Given the description of an element on the screen output the (x, y) to click on. 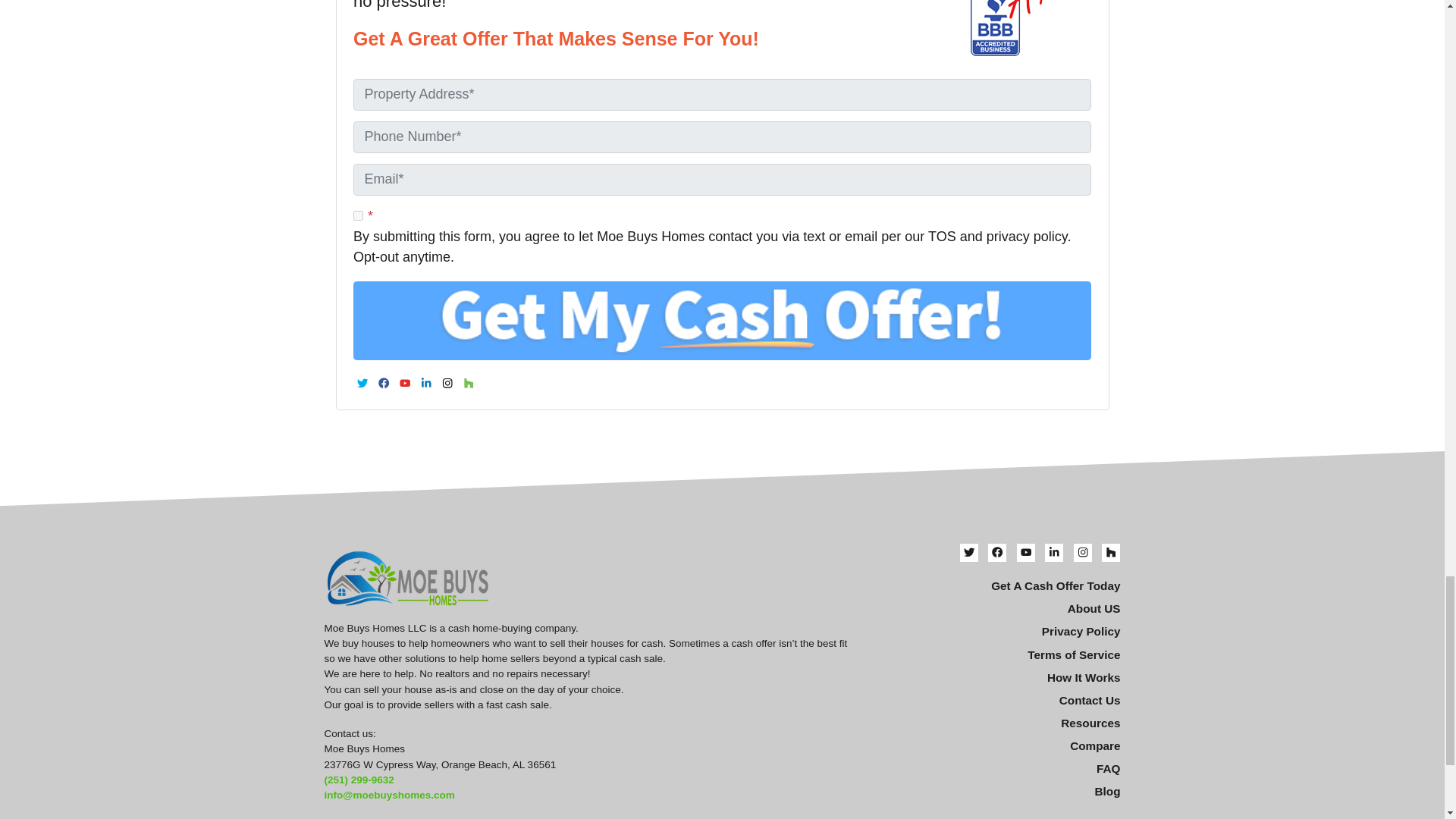
YouTube (404, 382)
1 (357, 215)
Selling Your Home to a Cash Buyer vs. A Real Estate Agent (995, 745)
Twitter (362, 382)
Facebook (383, 382)
